Given the description of an element on the screen output the (x, y) to click on. 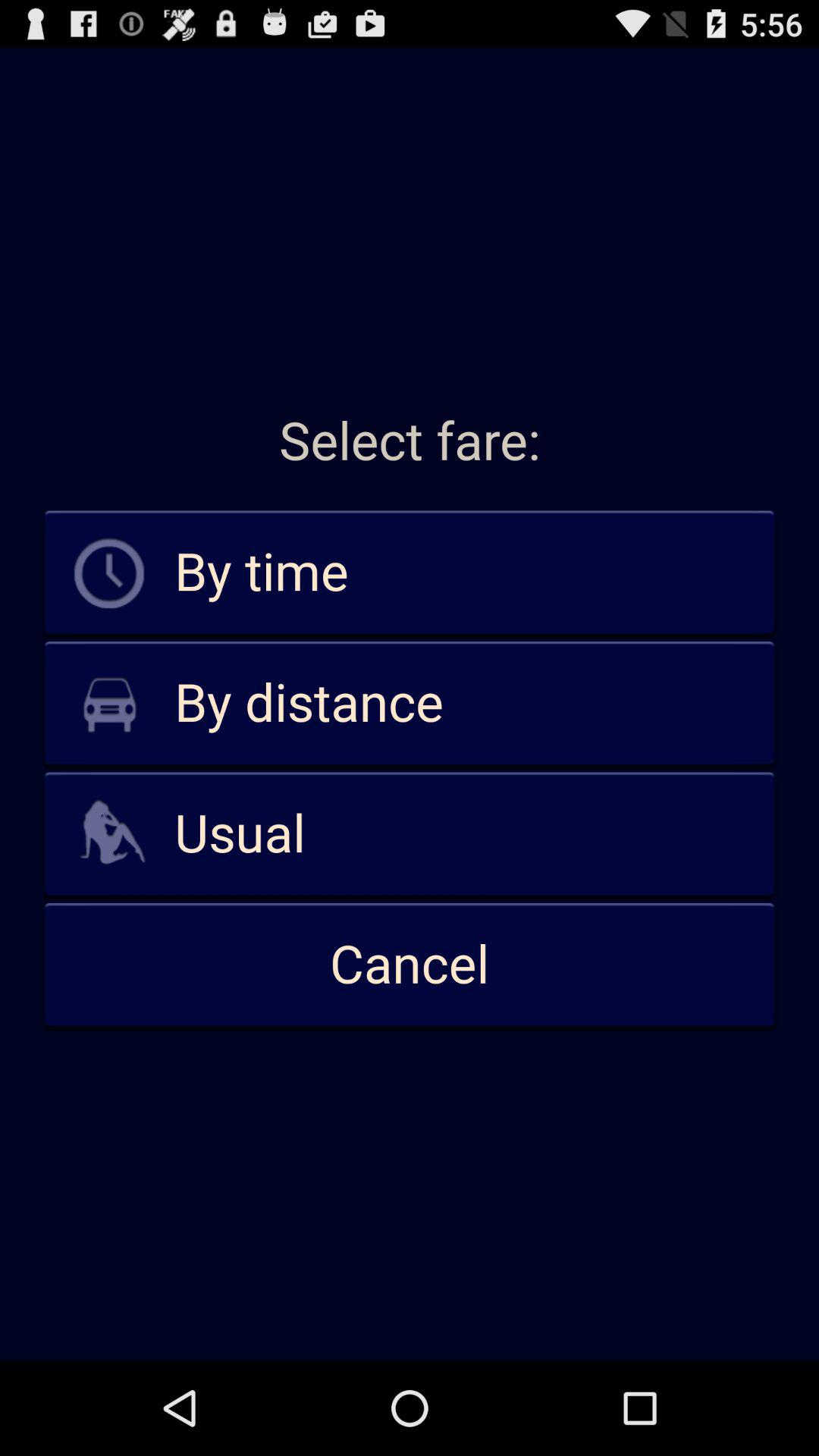
tap app below select fare: item (409, 572)
